Given the description of an element on the screen output the (x, y) to click on. 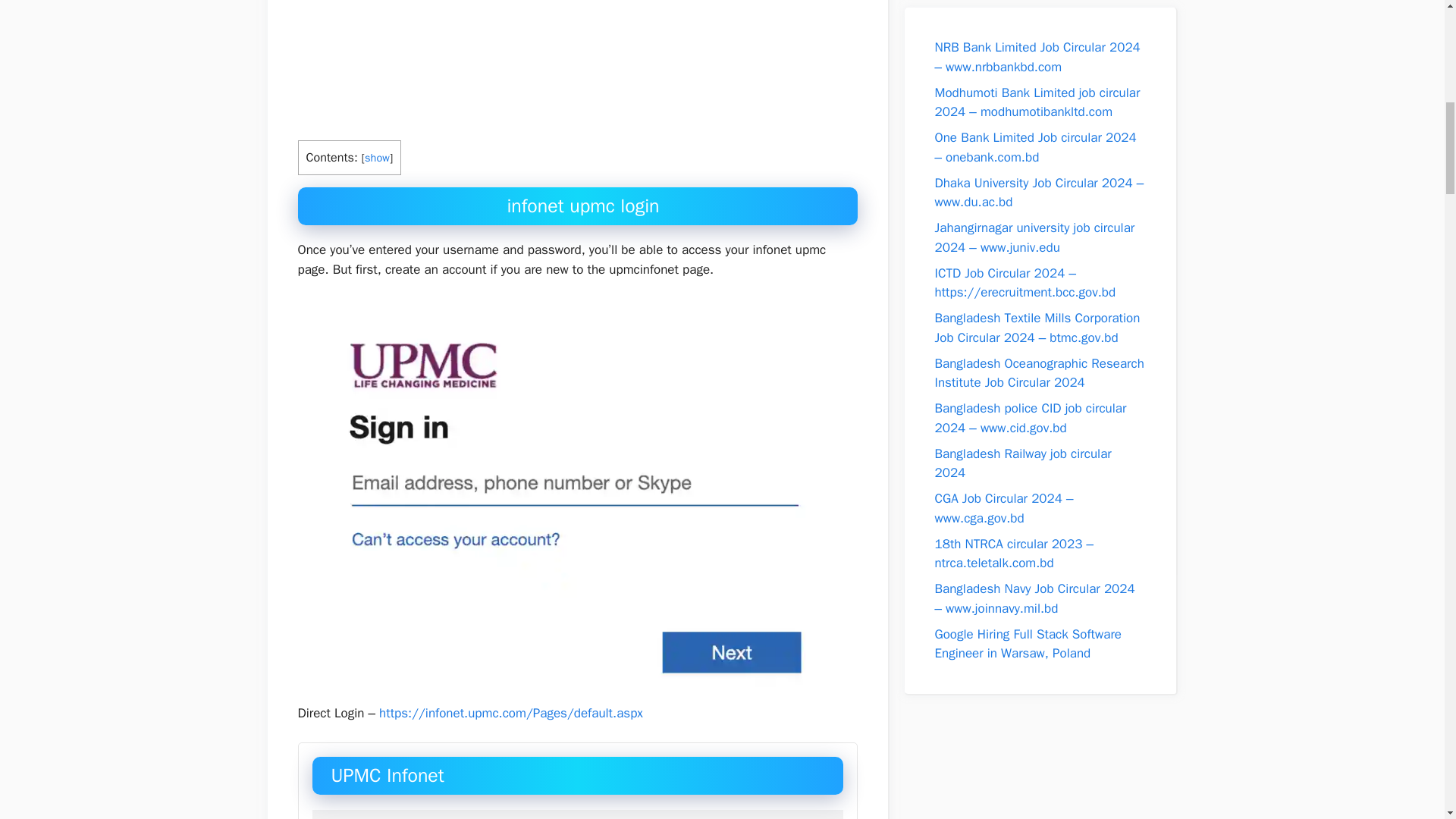
Scroll back to top (1406, 720)
show (377, 157)
Advertisement (576, 67)
